Given the description of an element on the screen output the (x, y) to click on. 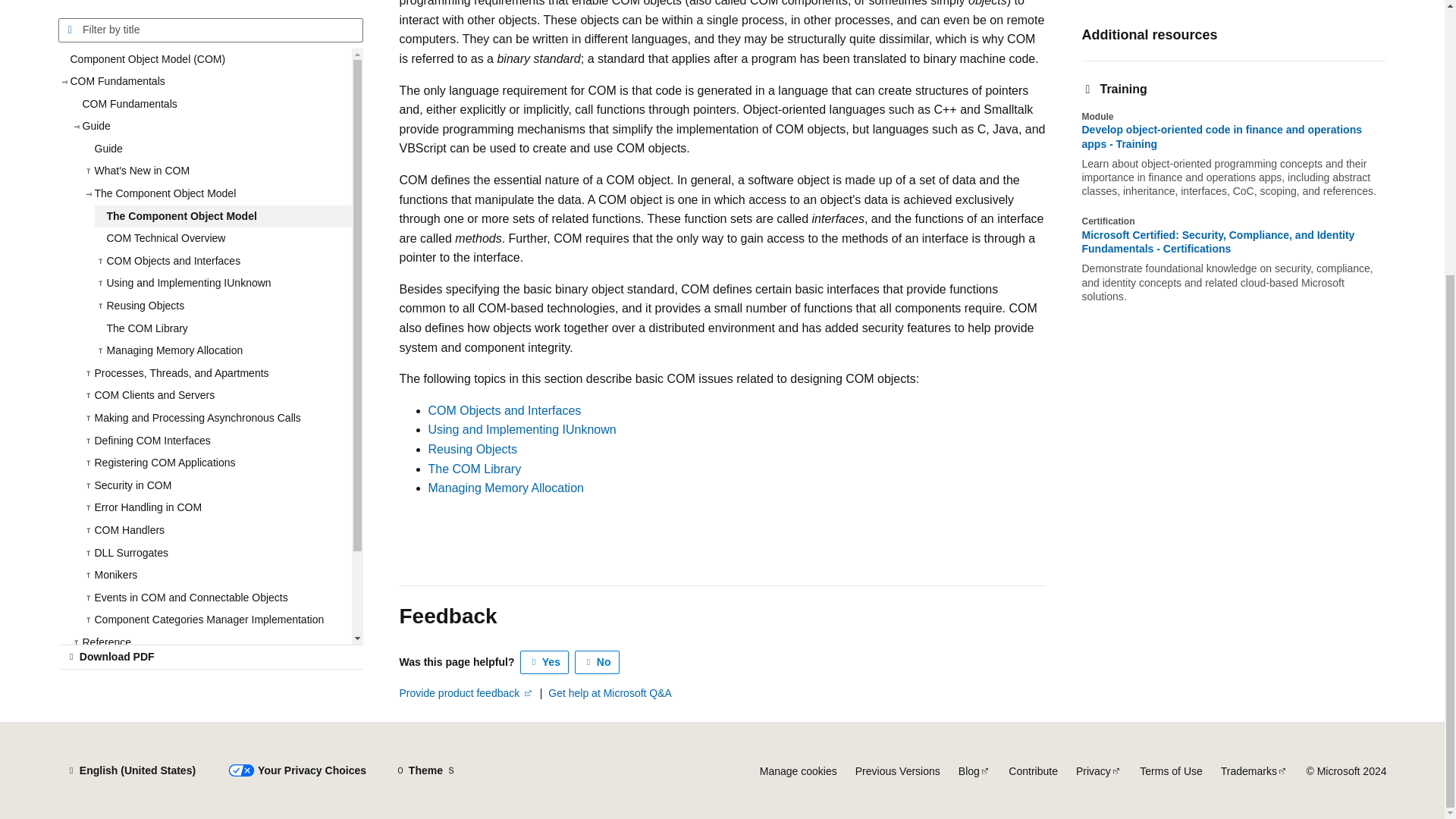
Theme (425, 770)
This article is helpful (544, 662)
This article is not helpful (597, 662)
